Given the description of an element on the screen output the (x, y) to click on. 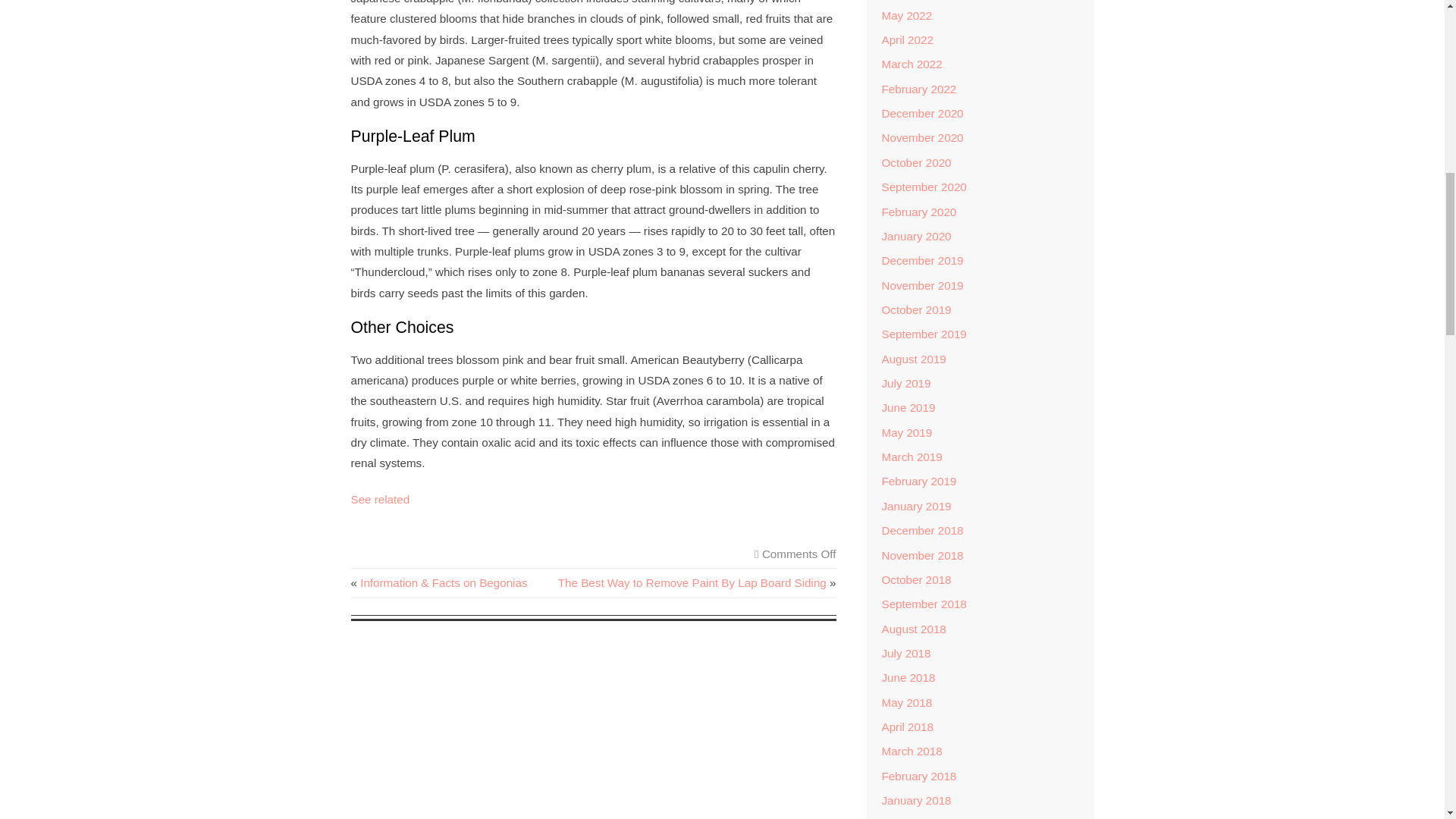
November 2020 (921, 137)
The Best Way to Remove Paint By Lap Board Siding (692, 582)
January 2020 (915, 236)
August 2019 (912, 358)
June 2019 (907, 407)
May 2022 (905, 15)
September 2019 (923, 333)
March 2022 (911, 63)
February 2020 (918, 211)
December 2020 (921, 113)
